Given the description of an element on the screen output the (x, y) to click on. 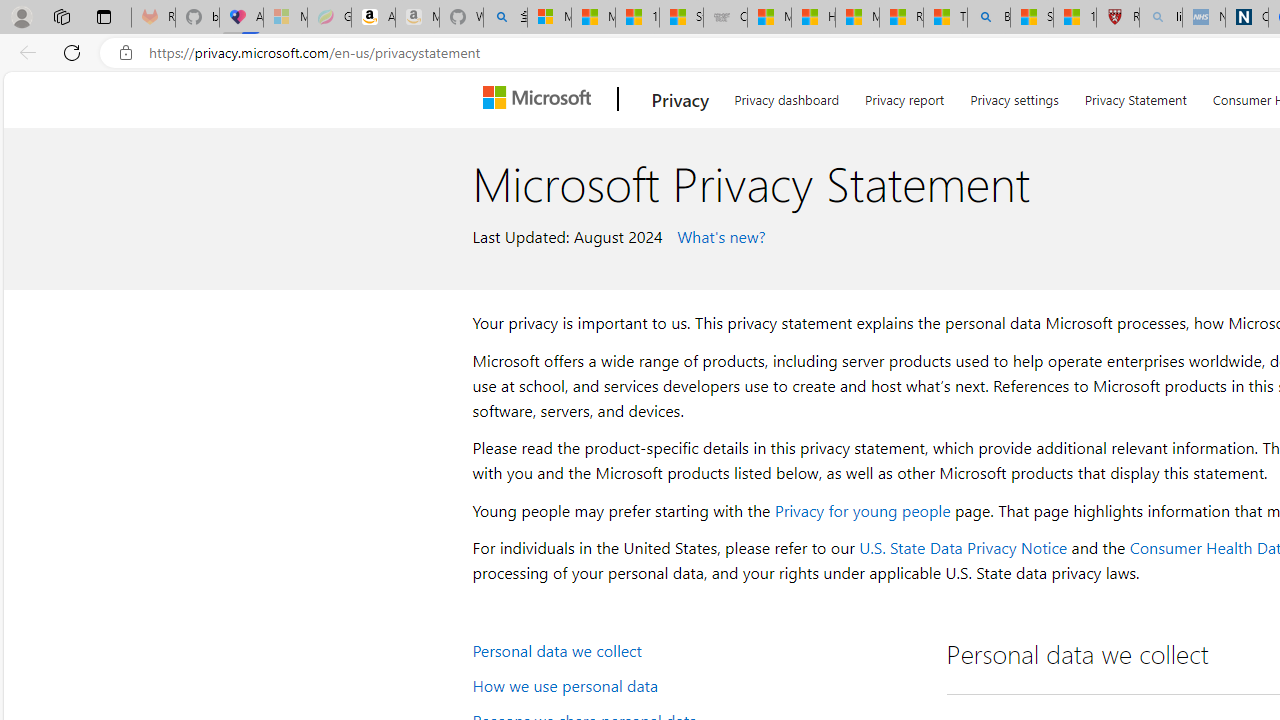
U.S. State Data Privacy Notice (962, 547)
Privacy Statement (1135, 96)
How I Got Rid of Microsoft Edge's Unnecessary Features (813, 17)
Privacy report (904, 96)
Privacy Statement (1135, 96)
Robert H. Shmerling, MD - Harvard Health (1118, 17)
Privacy report (904, 96)
Privacy settings (1014, 96)
